Given the description of an element on the screen output the (x, y) to click on. 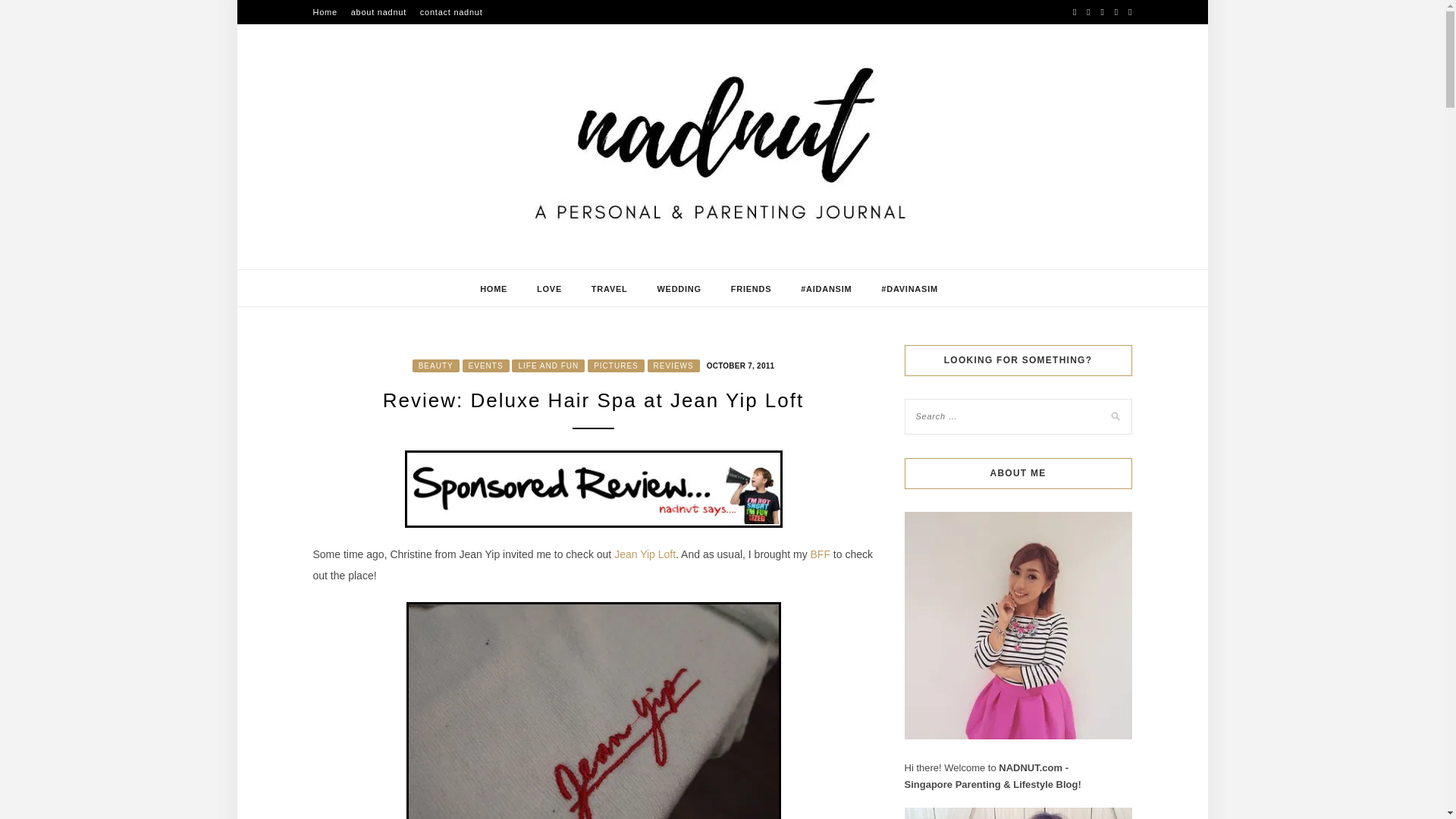
LOVE (549, 288)
BEAUTY (436, 365)
OCTOBER 7, 2011 (738, 364)
BFF (819, 553)
Home (324, 12)
EVENTS (486, 365)
WEDDING (678, 288)
about nadnut (378, 12)
PICTURES (616, 365)
TRAVEL (609, 288)
LIFE AND FUN (548, 365)
HOME (493, 288)
contact nadnut (451, 12)
FRIENDS (750, 288)
REVIEWS (673, 365)
